Given the description of an element on the screen output the (x, y) to click on. 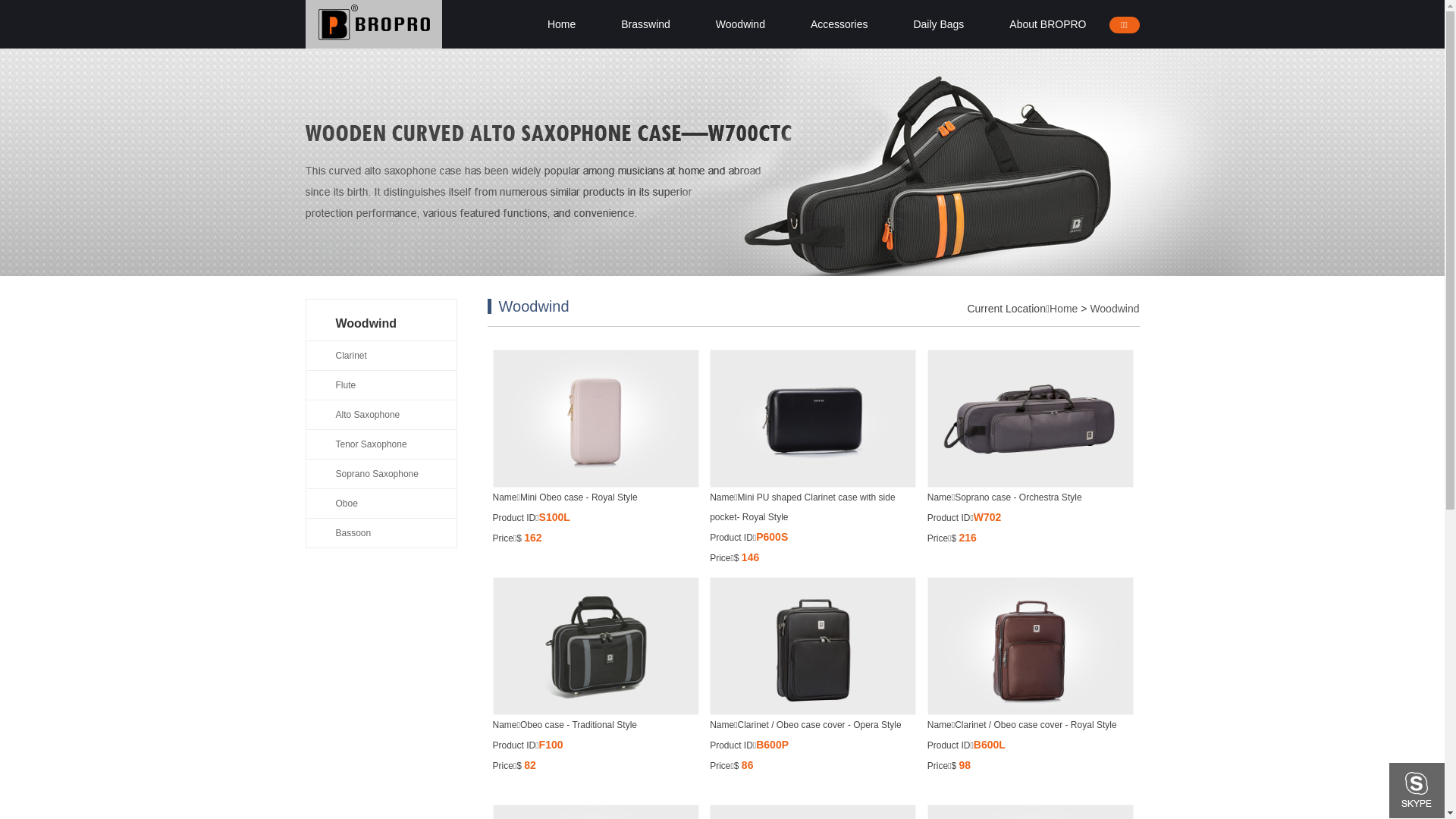
Soprano case - Orchestra Style Element type: hover (1030, 418)
Alto Saxophone Element type: text (379, 414)
About BROPRO Element type: text (1047, 24)
Soprano Saxophone Element type: text (379, 473)
Woodwind Element type: text (1114, 308)
Bassoon Element type: text (379, 532)
Clarinet / Obeo case cover - Royal Style Element type: hover (1030, 646)
Clarinet Element type: text (379, 355)
Flute Element type: text (379, 384)
Home Element type: text (561, 24)
Woodwind Element type: text (740, 24)
Home Element type: text (1063, 308)
Mini Obeo case - Royal Style Element type: hover (595, 418)
Clarinet / Obeo case cover - Opera Style Element type: hover (812, 646)
Obeo case - Traditional Style Element type: hover (595, 646)
Brasswind Element type: text (645, 24)
Oboe Element type: text (379, 502)
Mini PU shaped Clarinet case with side pocket- Royal Style Element type: hover (812, 418)
Daily Bags Element type: text (938, 24)
Accessories Element type: text (838, 24)
. Element type: text (372, 24)
Tenor Saxophone Element type: text (379, 443)
